Given the description of an element on the screen output the (x, y) to click on. 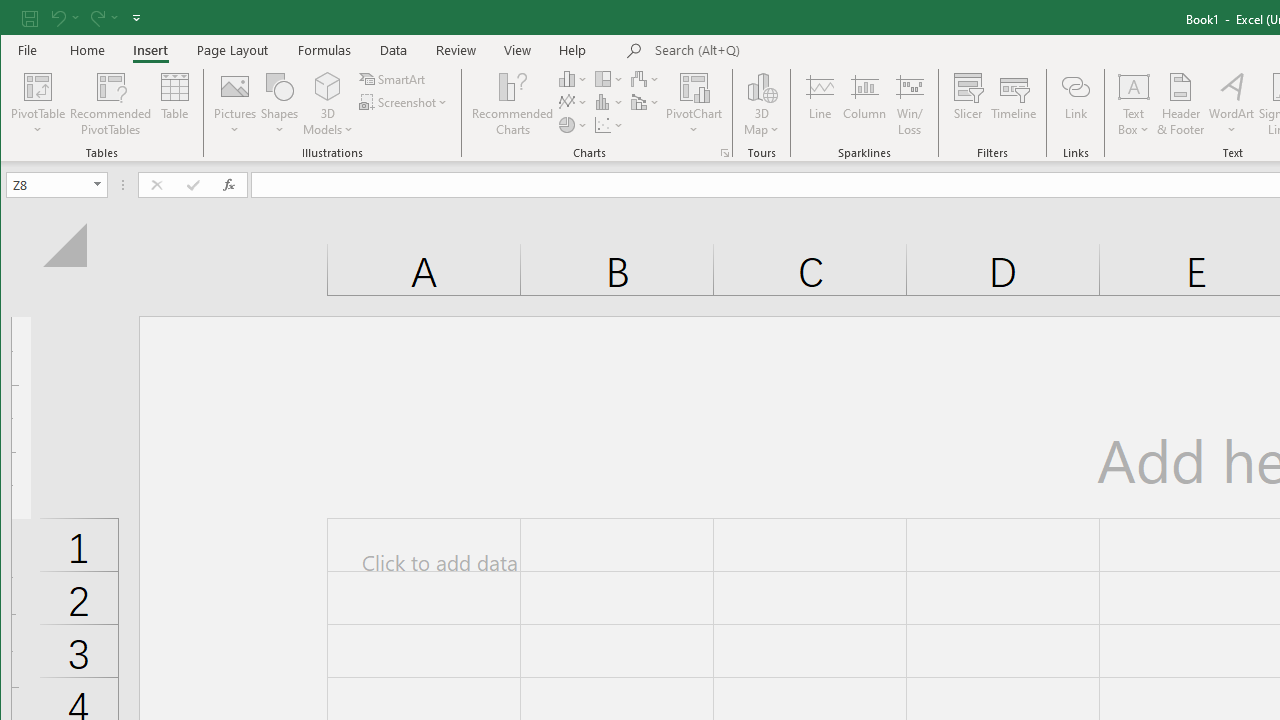
Draw Horizontal Text Box (1133, 86)
Slicer... (968, 104)
Pictures (235, 104)
Link (1075, 104)
Recommended Charts (724, 152)
Insert Line or Area Chart (573, 101)
Shapes (279, 104)
Recommended PivotTables (110, 104)
